Given the description of an element on the screen output the (x, y) to click on. 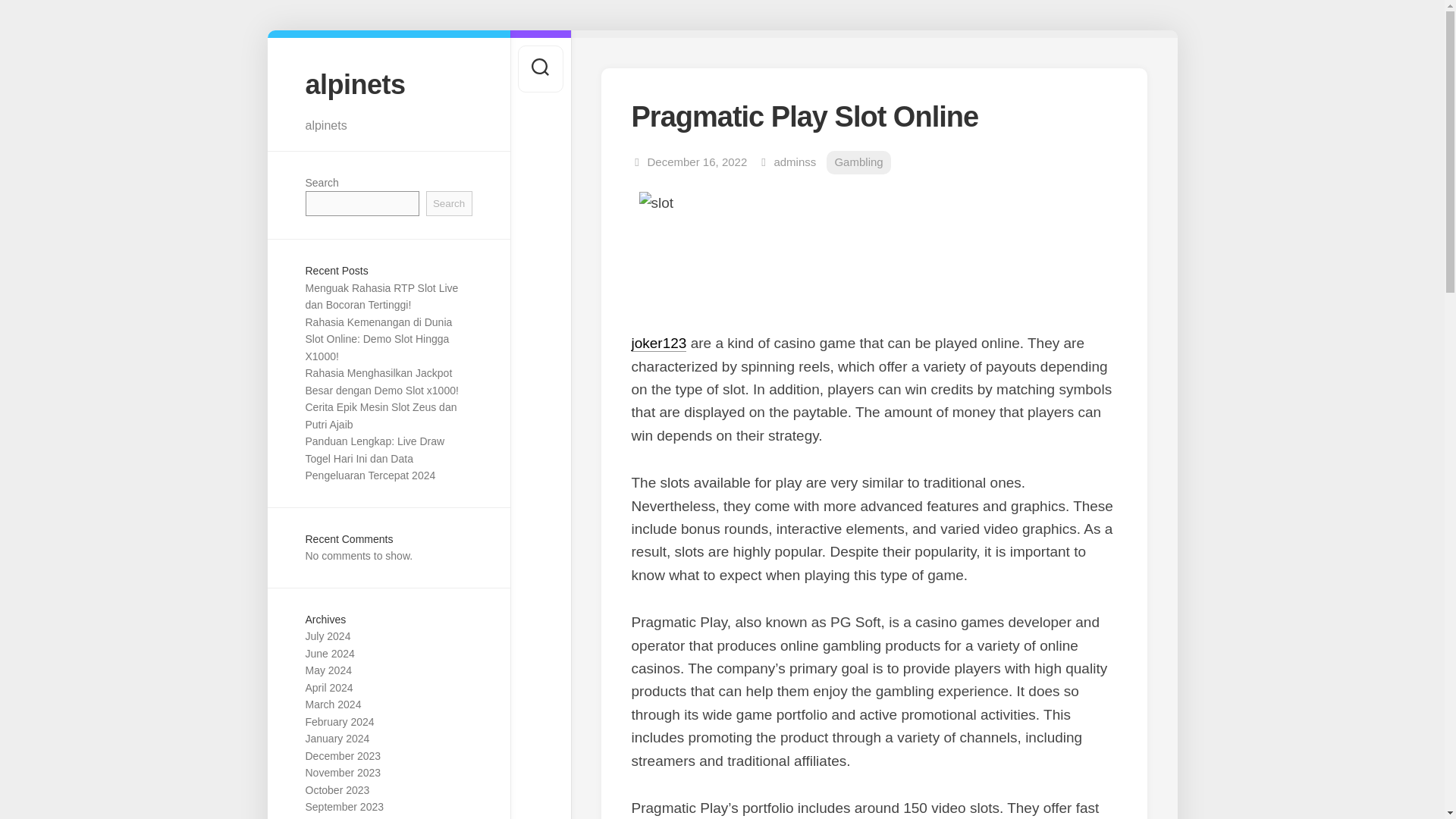
May 2024 (327, 670)
December 2023 (342, 756)
Cerita Epik Mesin Slot Zeus dan Putri Ajaib (380, 415)
October 2023 (336, 789)
September 2023 (344, 806)
November 2023 (342, 772)
alpinets (387, 83)
Menguak Rahasia RTP Slot Live dan Bocoran Tertinggi! (381, 296)
Rahasia Menghasilkan Jackpot Besar dengan Demo Slot x1000! (381, 381)
March 2024 (332, 704)
June 2024 (328, 653)
January 2024 (336, 738)
